Given the description of an element on the screen output the (x, y) to click on. 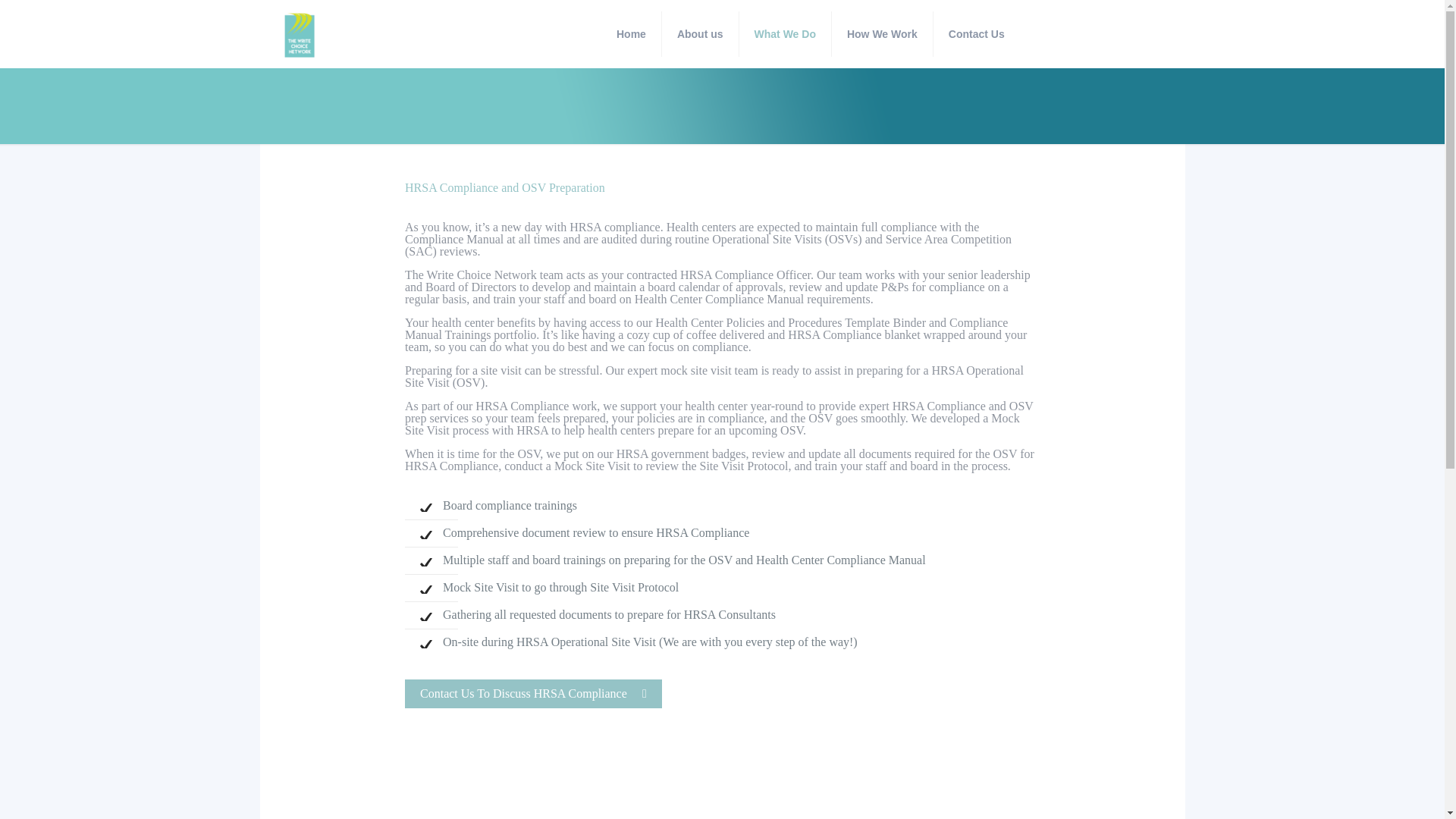
How We Work (882, 33)
What We Do (785, 33)
Home (614, 594)
Contact Us (614, 694)
About us (700, 33)
What We Do (614, 644)
Contact Us (976, 33)
Contact Us To Discuss HRSA Compliance (533, 693)
How We Work (614, 669)
About us (614, 619)
Home (631, 33)
